Given the description of an element on the screen output the (x, y) to click on. 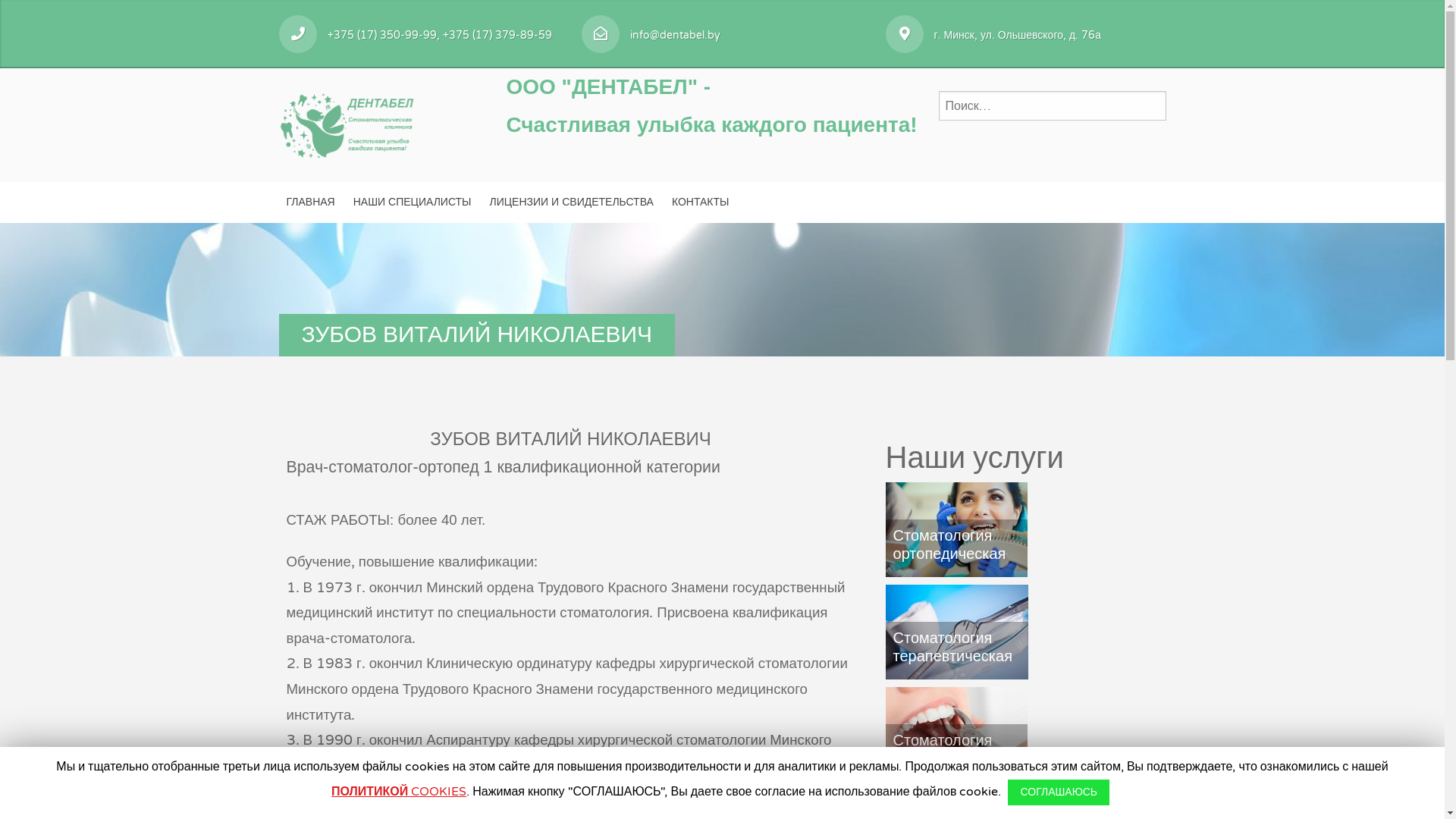
dentabel.by Element type: hover (347, 122)
